Given the description of an element on the screen output the (x, y) to click on. 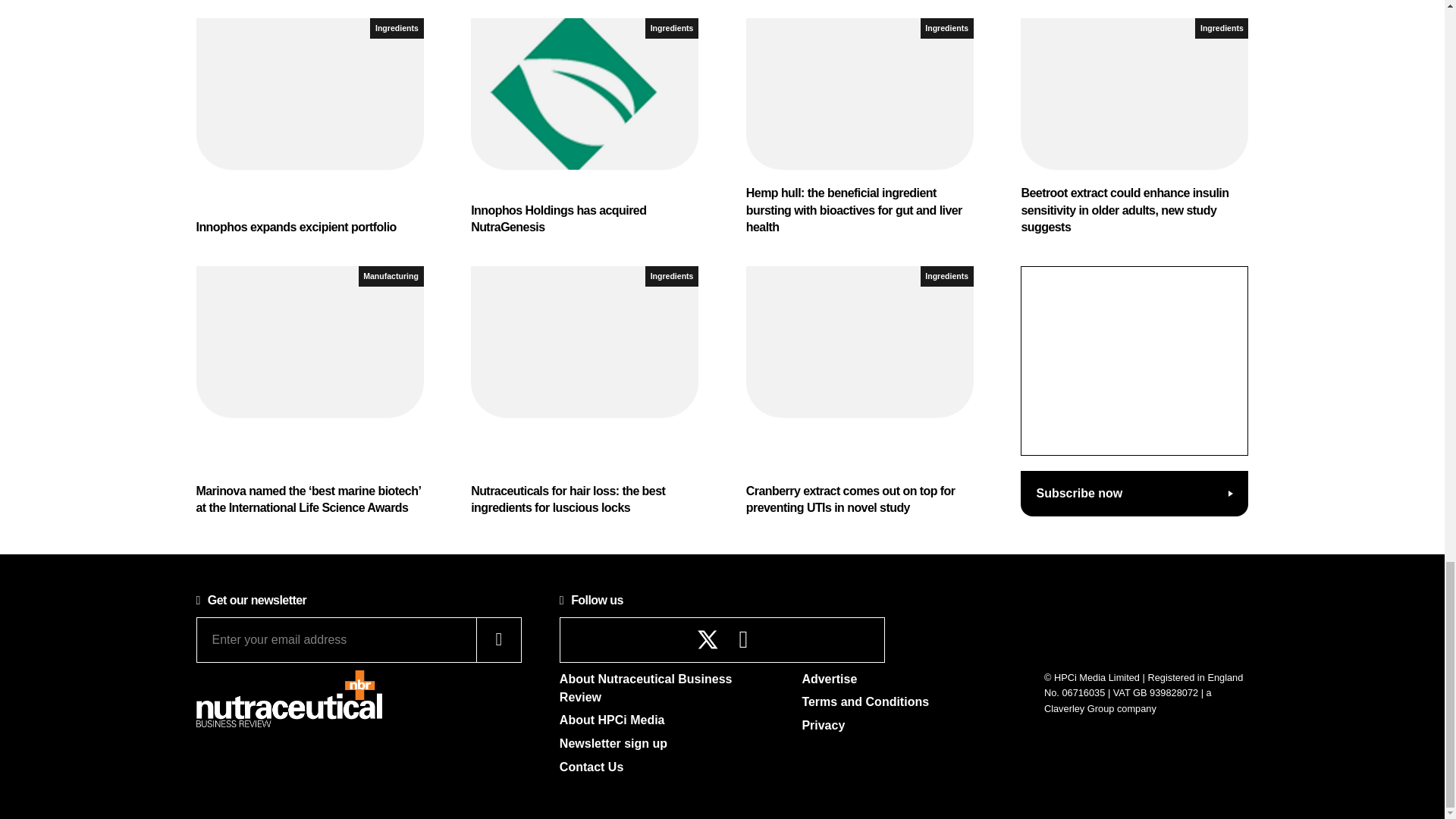
Ingredients (671, 28)
Ingredients (396, 28)
Follow Nutraceutical Business Review on X (708, 639)
Innophos expands excipient portfolio (309, 126)
